Given the description of an element on the screen output the (x, y) to click on. 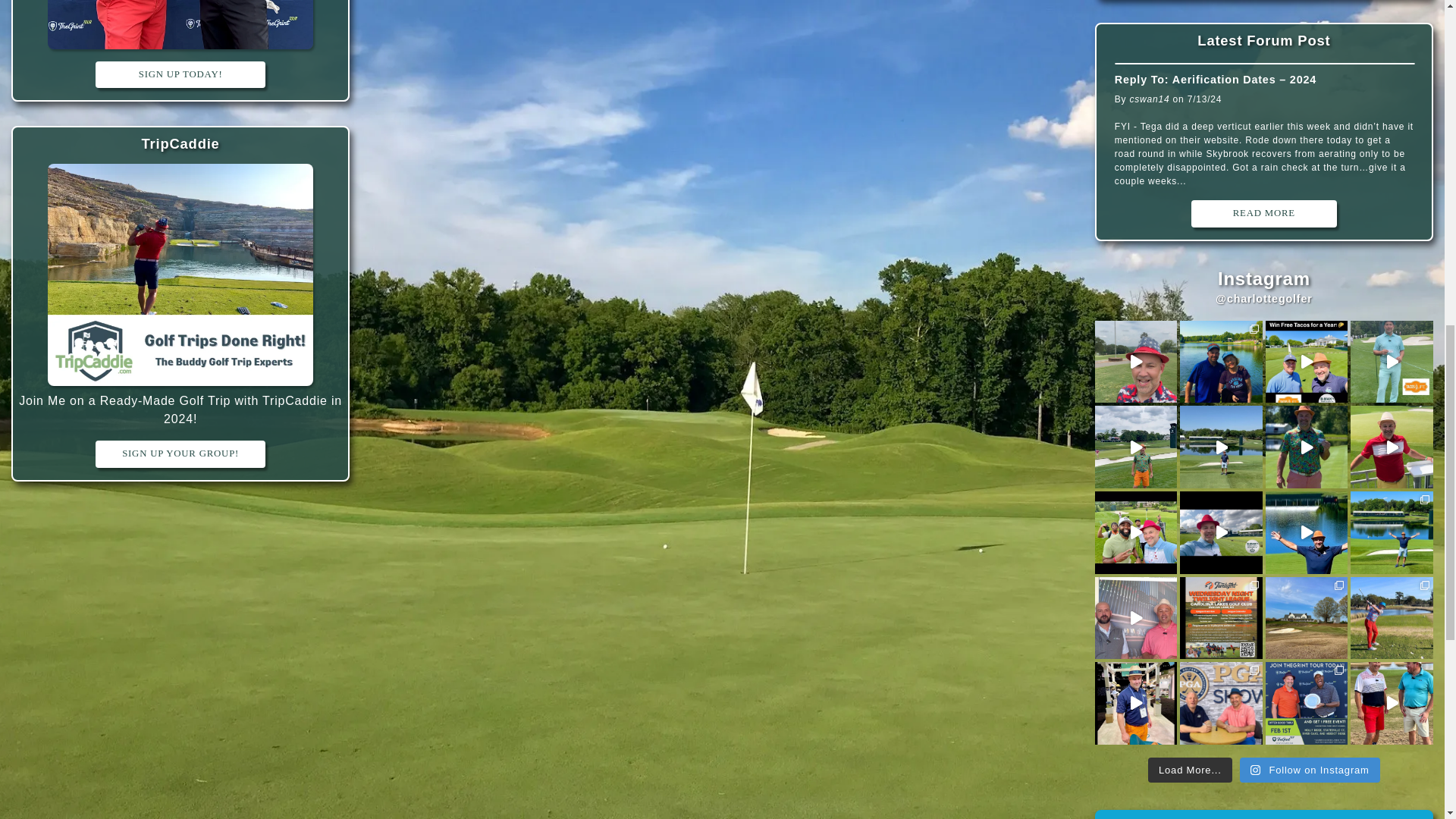
TripCaddie (180, 143)
SIGN UP TODAY! (180, 74)
TripCaddie.com - Golf Trips Done Right (180, 277)
SIGN UP YOUR GROUP! (180, 453)
TripCaddie.com - Golf Trips Done Right (180, 143)
